Given the description of an element on the screen output the (x, y) to click on. 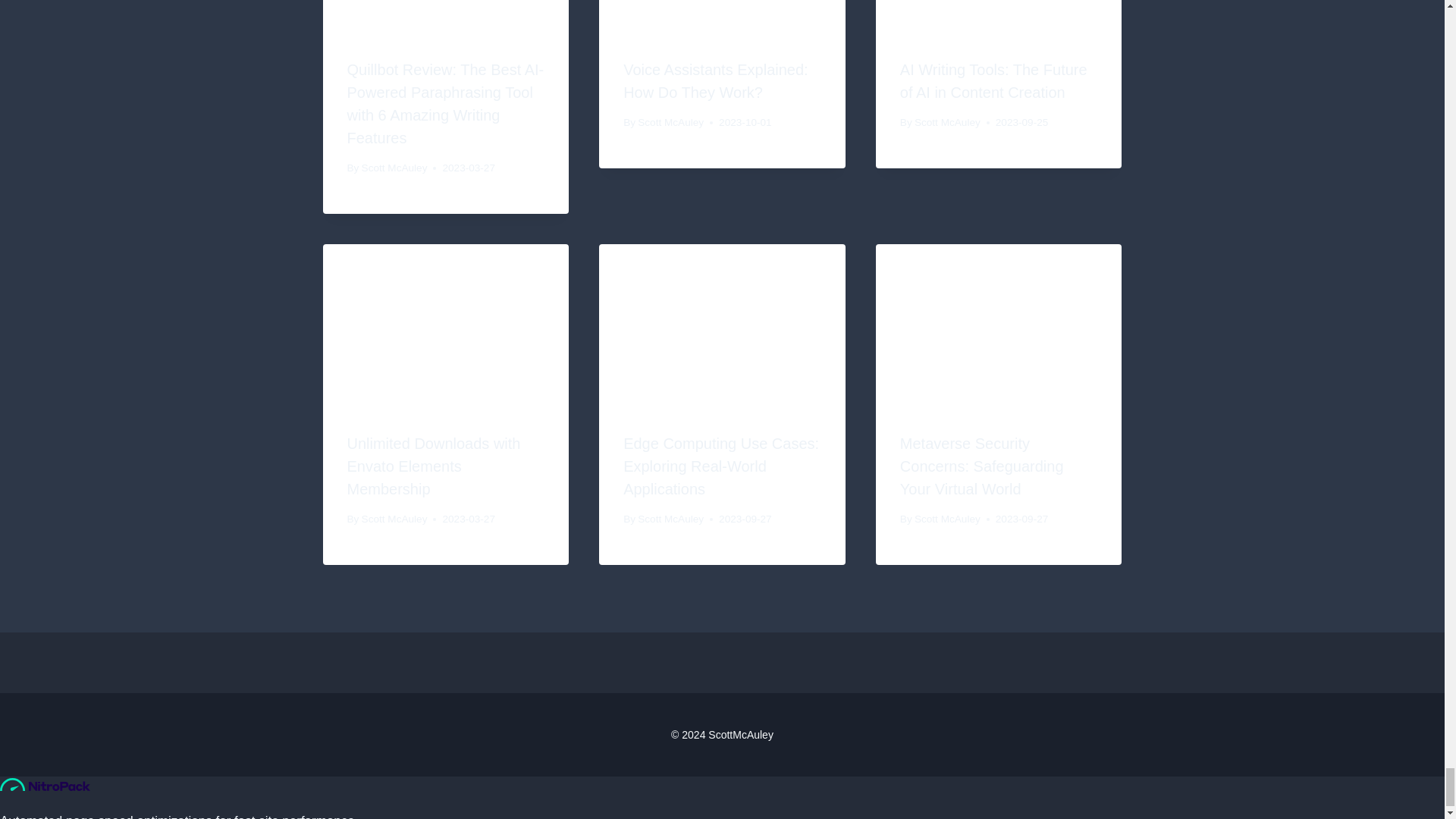
Scott McAuley (670, 122)
Scott McAuley (394, 167)
Scott McAuley (946, 122)
Voice Assistants Explained: How Do They Work? (715, 80)
AI Writing Tools: The Future of AI in Content Creation (993, 80)
